Given the description of an element on the screen output the (x, y) to click on. 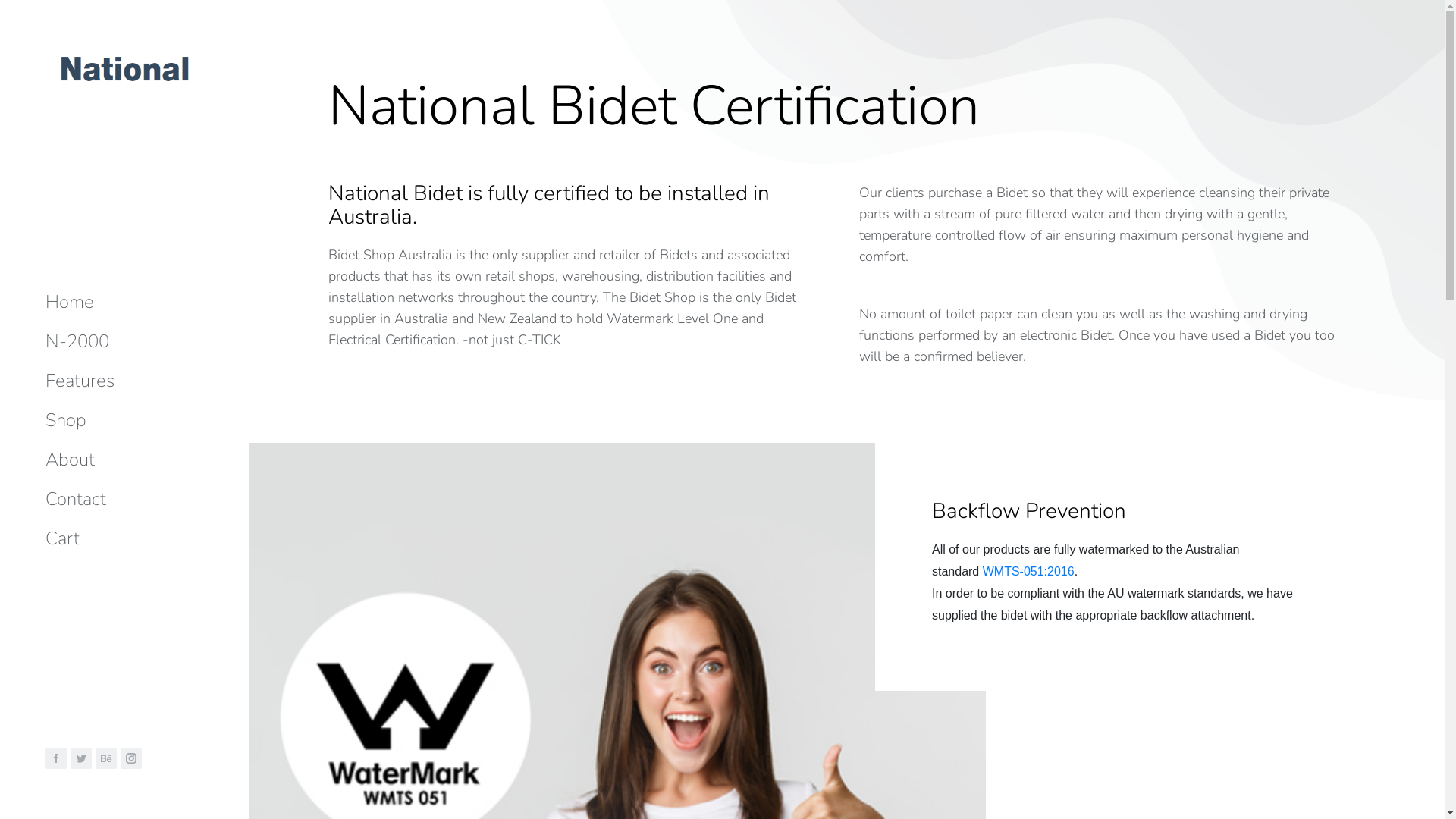
Home Element type: text (69, 301)
Facebook page opens in new window Element type: hover (55, 757)
Twitter page opens in new window Element type: hover (80, 757)
Behance page opens in new window Element type: hover (105, 757)
About Element type: text (69, 459)
Cart Element type: text (62, 538)
N-2000 Element type: text (77, 340)
Shop Element type: text (65, 419)
Contact Element type: text (75, 498)
WMTS-051:2016 Element type: text (1028, 570)
Instagram page opens in new window Element type: hover (130, 757)
Features Element type: text (79, 380)
